Given the description of an element on the screen output the (x, y) to click on. 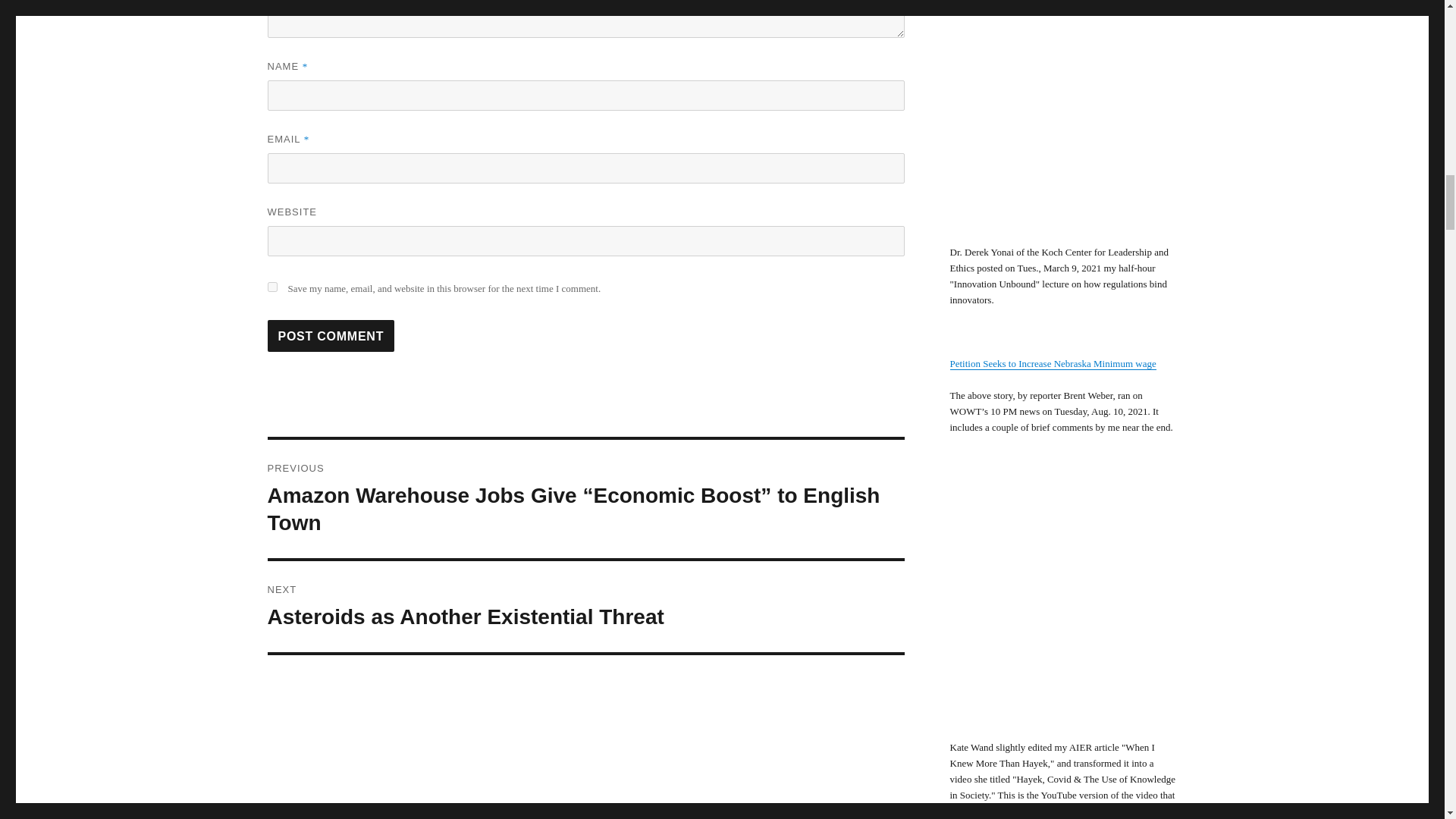
Post Comment (330, 336)
Petition Seeks to Increase Nebraska Minimum wage (1052, 363)
yes (271, 286)
Post Comment (585, 606)
